Given the description of an element on the screen output the (x, y) to click on. 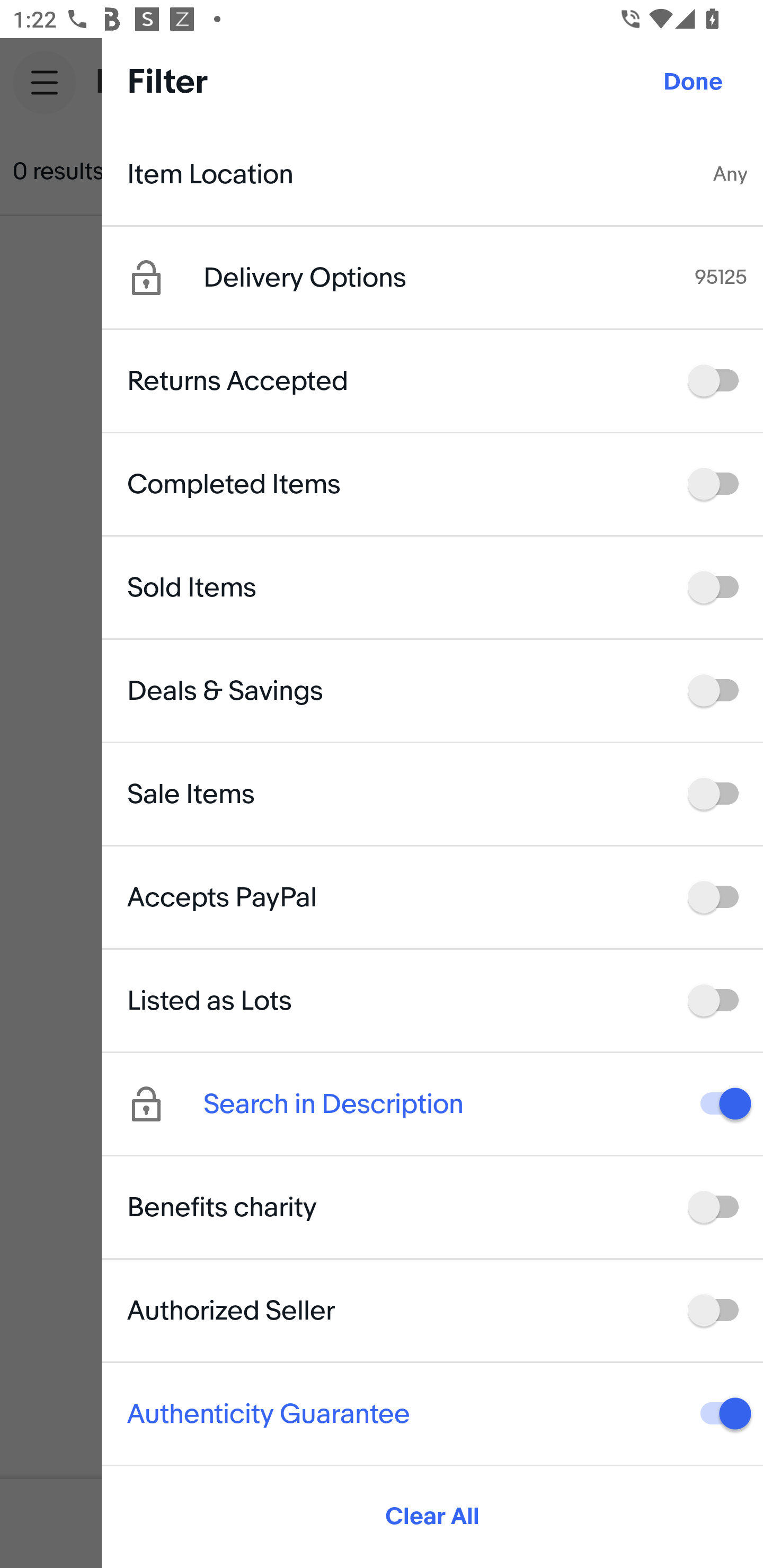
Done (693, 82)
Lock Delivery Options refinement (165, 277)
Lock Search in Description refinement (165, 1103)
Clear All (432, 1516)
